Given the description of an element on the screen output the (x, y) to click on. 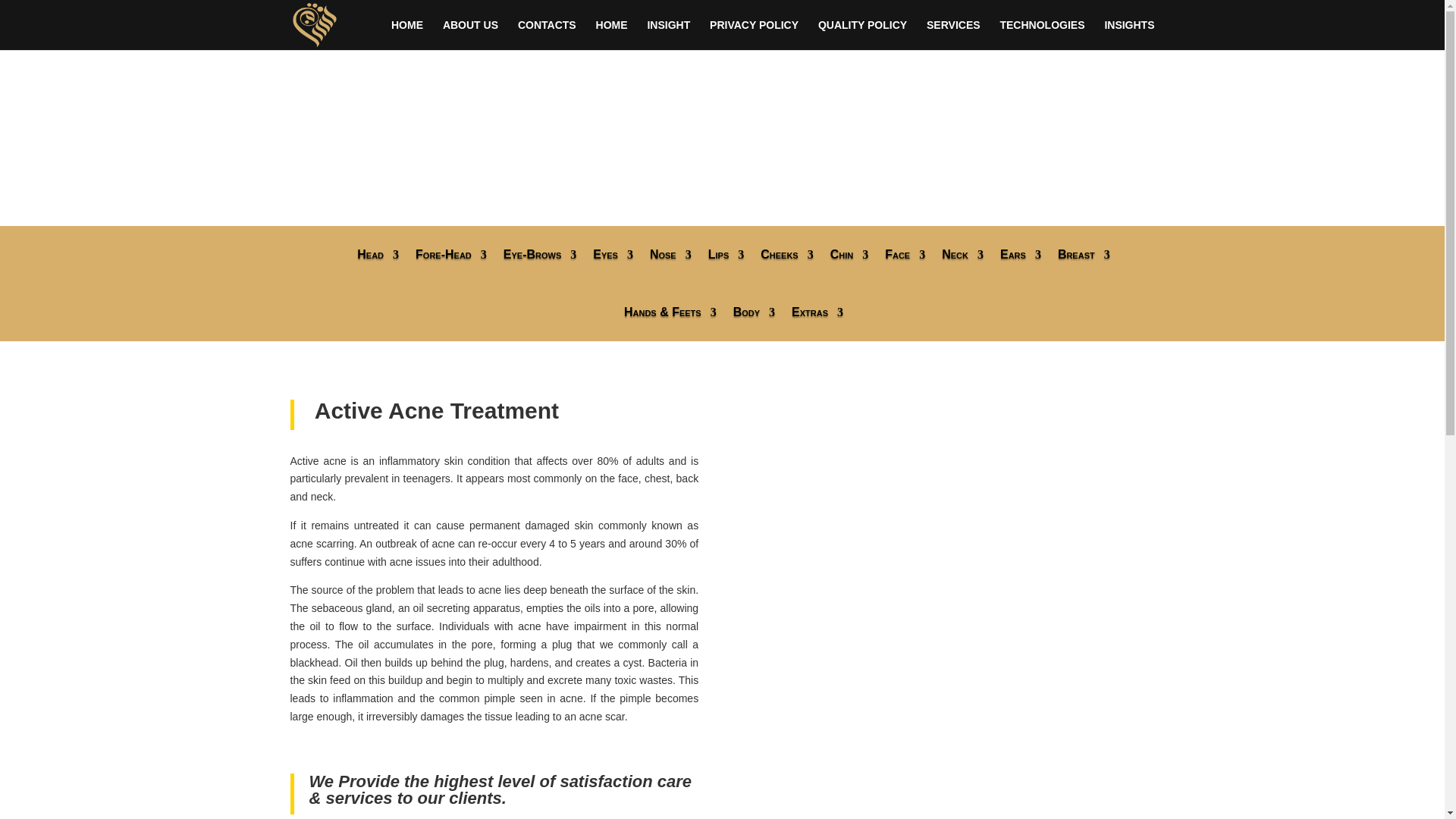
CONTACTS (547, 34)
PRIVACY POLICY (753, 34)
HOME (611, 34)
SERVICES (952, 34)
HOME (407, 34)
QUALITY POLICY (862, 34)
ABOUT US (469, 34)
INSIGHT (668, 34)
